Given the description of an element on the screen output the (x, y) to click on. 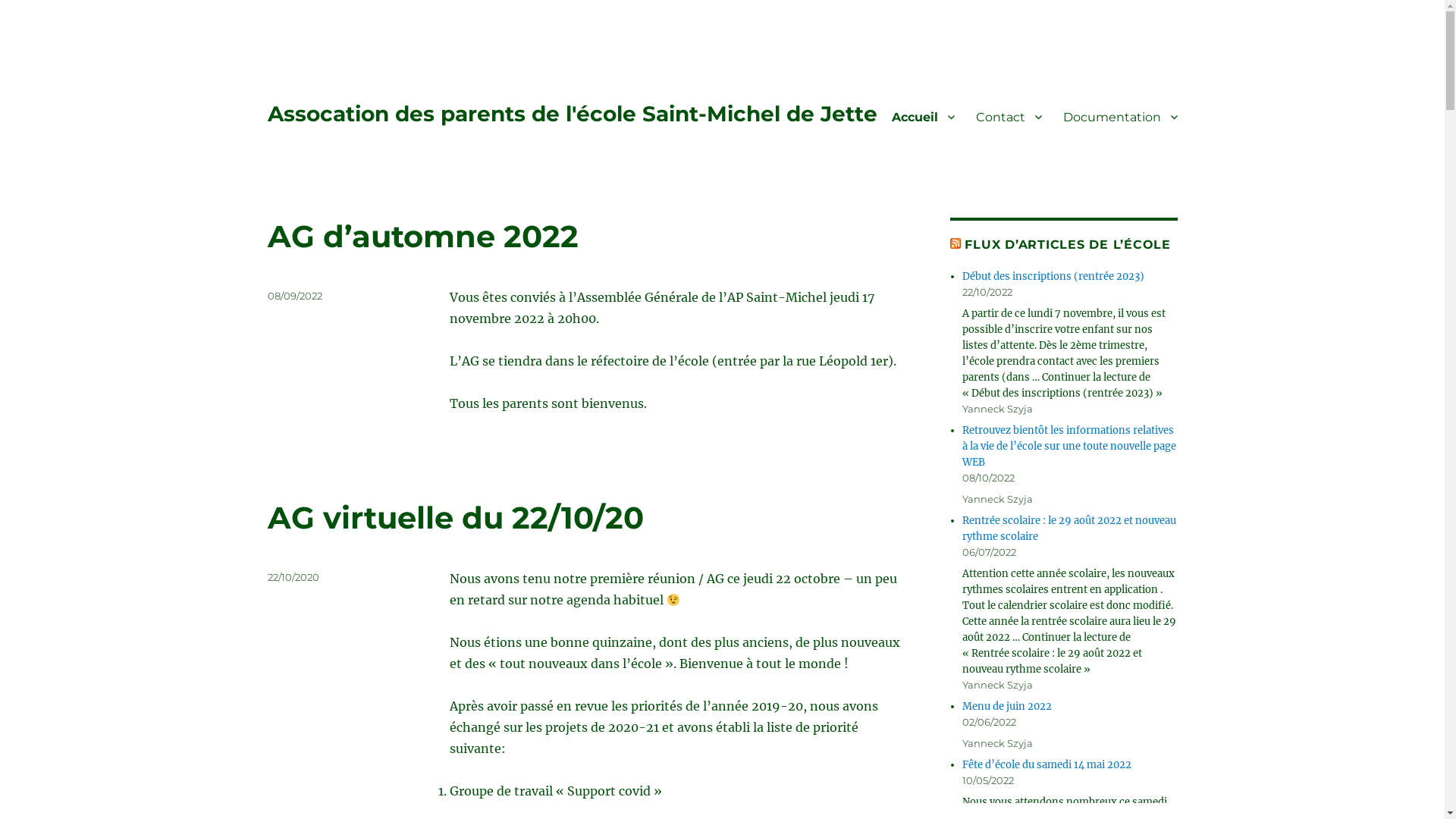
Contact Element type: text (1007, 116)
08/09/2022 Element type: text (293, 295)
AG virtuelle du 22/10/20 Element type: text (454, 517)
Documentation Element type: text (1120, 116)
22/10/2020 Element type: text (292, 577)
Accueil Element type: text (923, 116)
Menu de juin 2022 Element type: text (1006, 705)
